Given the description of an element on the screen output the (x, y) to click on. 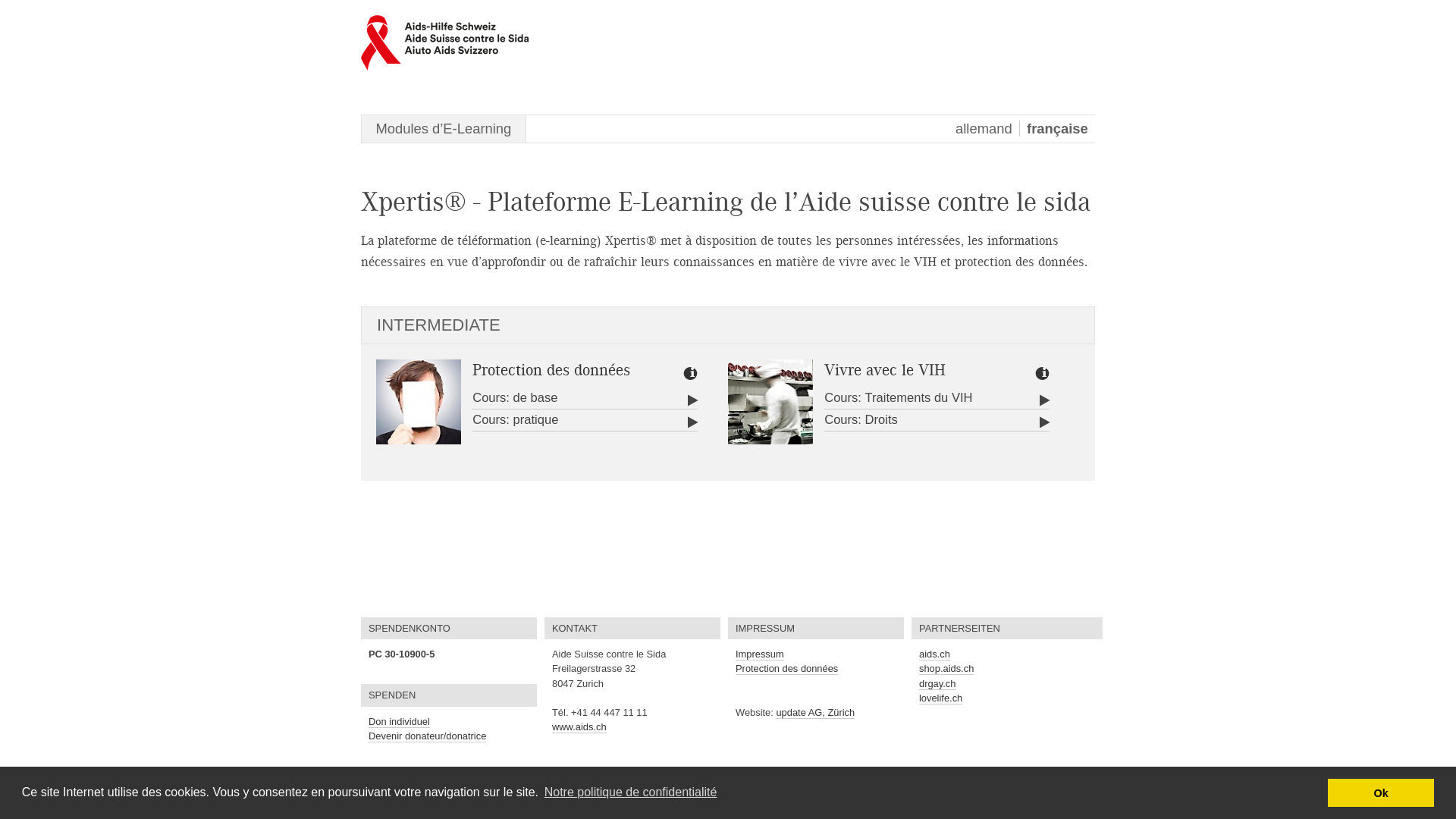
Ok Element type: text (1380, 792)
shop.aids.ch Element type: text (946, 668)
www.aids.ch Element type: text (579, 727)
lovelife.ch Element type: text (940, 698)
Devenir donateur/donatrice Element type: text (427, 736)
drgay.ch Element type: text (937, 683)
Don individuel Element type: text (398, 721)
Vivre avec le VIH
i Element type: text (936, 369)
allemand Element type: text (987, 128)
aids.ch Element type: text (934, 654)
Impressum Element type: text (759, 654)
